Given the description of an element on the screen output the (x, y) to click on. 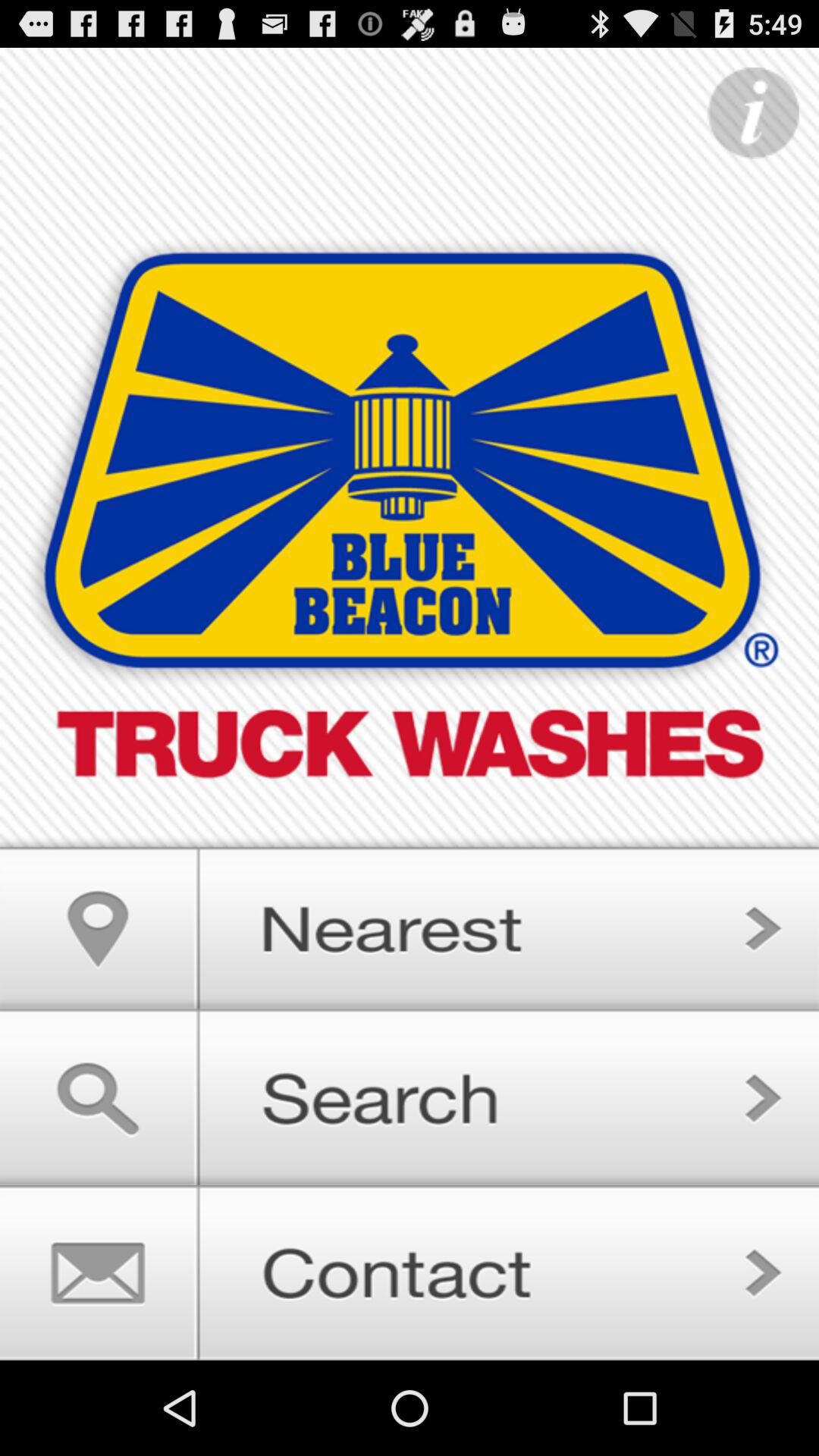
important information (753, 113)
